Given the description of an element on the screen output the (x, y) to click on. 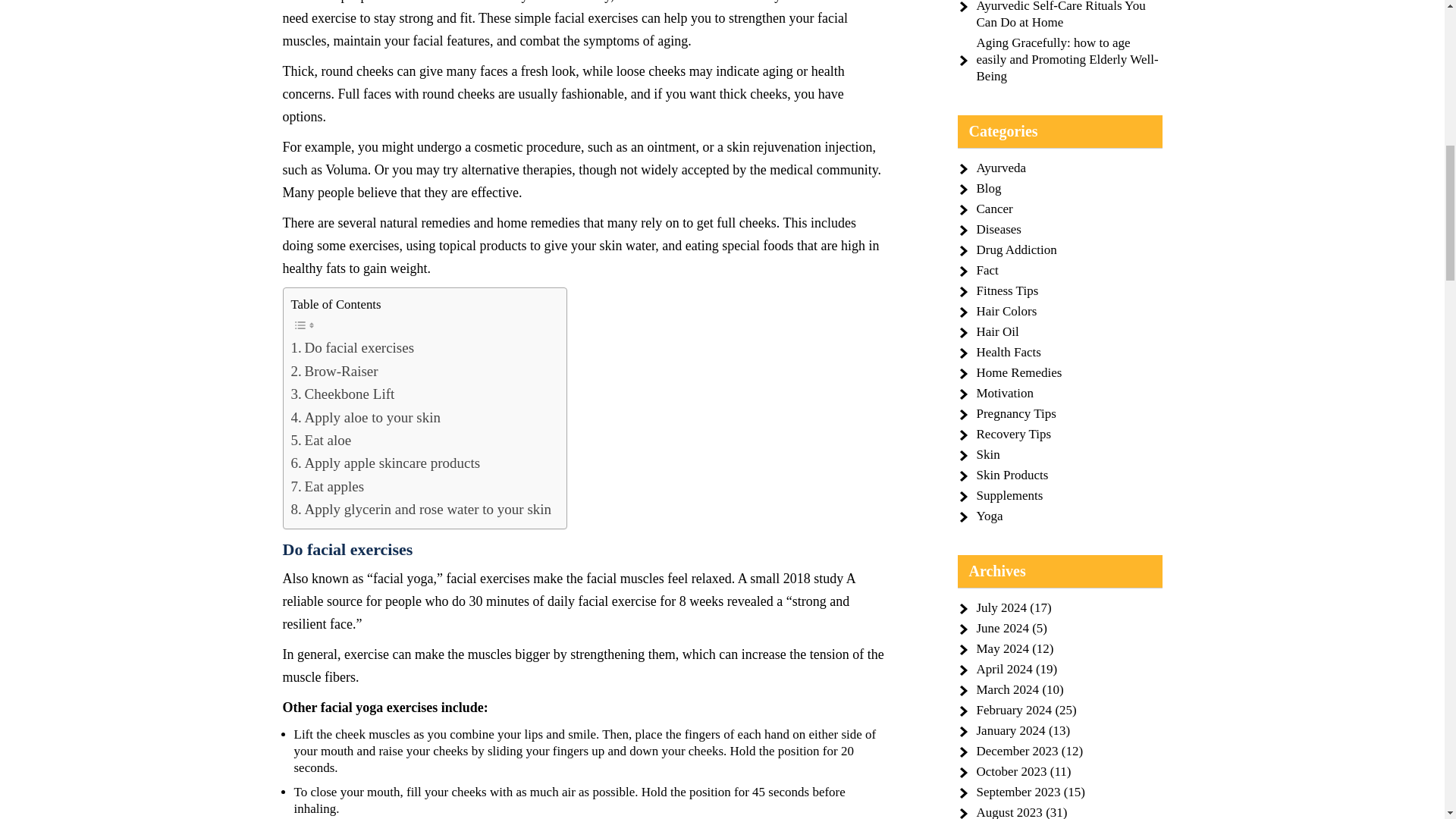
Apply apple skincare products (385, 463)
Apply glycerin and rose water to your skin (421, 508)
Eat apples (328, 486)
Apply apple skincare products (385, 463)
Cheekbone Lift (342, 394)
Do facial exercises (352, 347)
Apply aloe to your skin (366, 417)
Eat aloe (321, 440)
Apply glycerin and rose water to your skin (421, 508)
Brow-Raiser (334, 371)
Eat apples (328, 486)
Brow-Raiser (334, 371)
Eat aloe (321, 440)
Cheekbone Lift (342, 394)
Do facial exercises (352, 347)
